Given the description of an element on the screen output the (x, y) to click on. 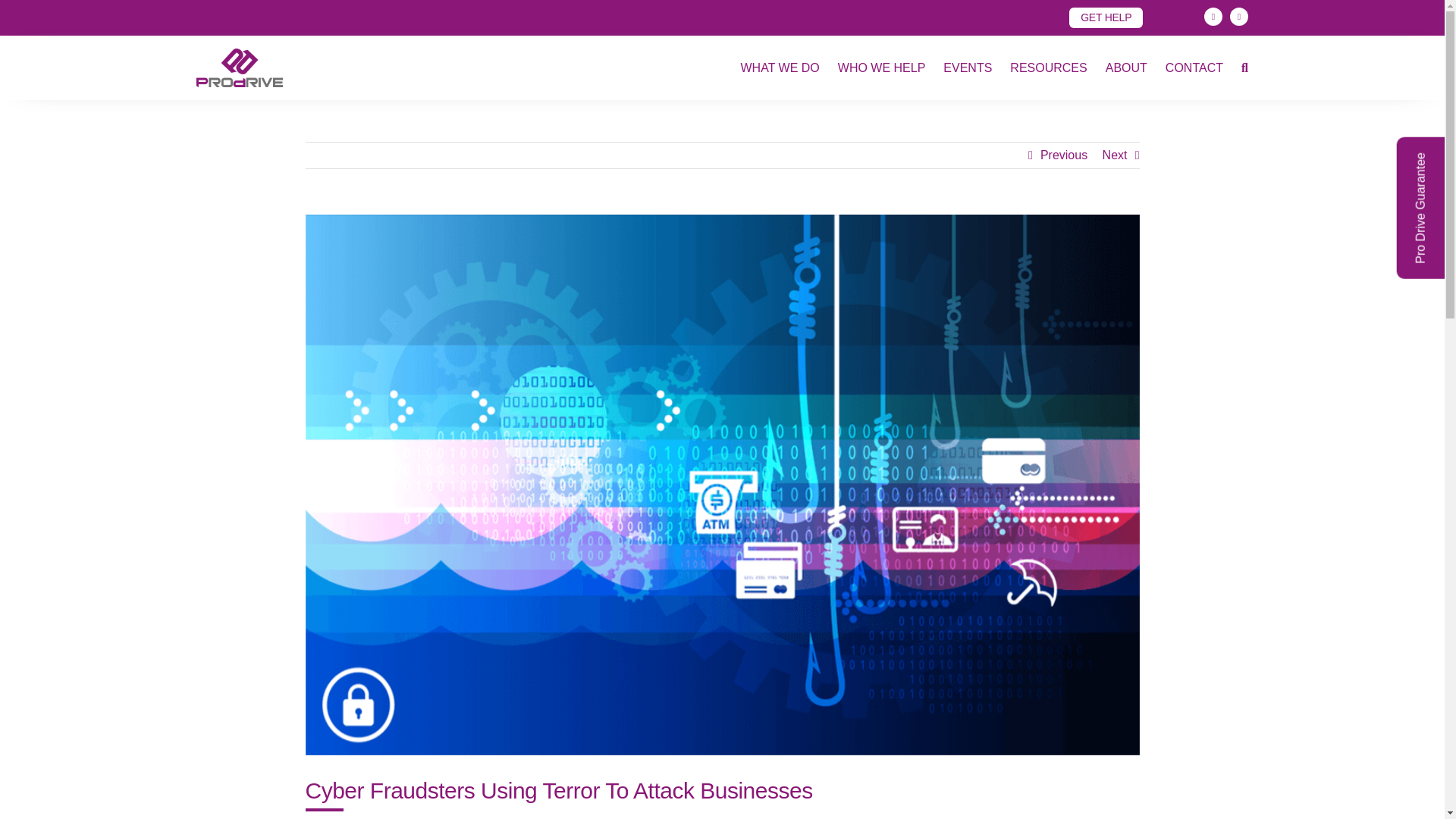
LinkedIn (1213, 16)
RESOURCES (1048, 67)
WHAT WE DO (778, 67)
GET HELP (1105, 17)
WHO WE HELP (882, 67)
YouTube (1238, 16)
